Given the description of an element on the screen output the (x, y) to click on. 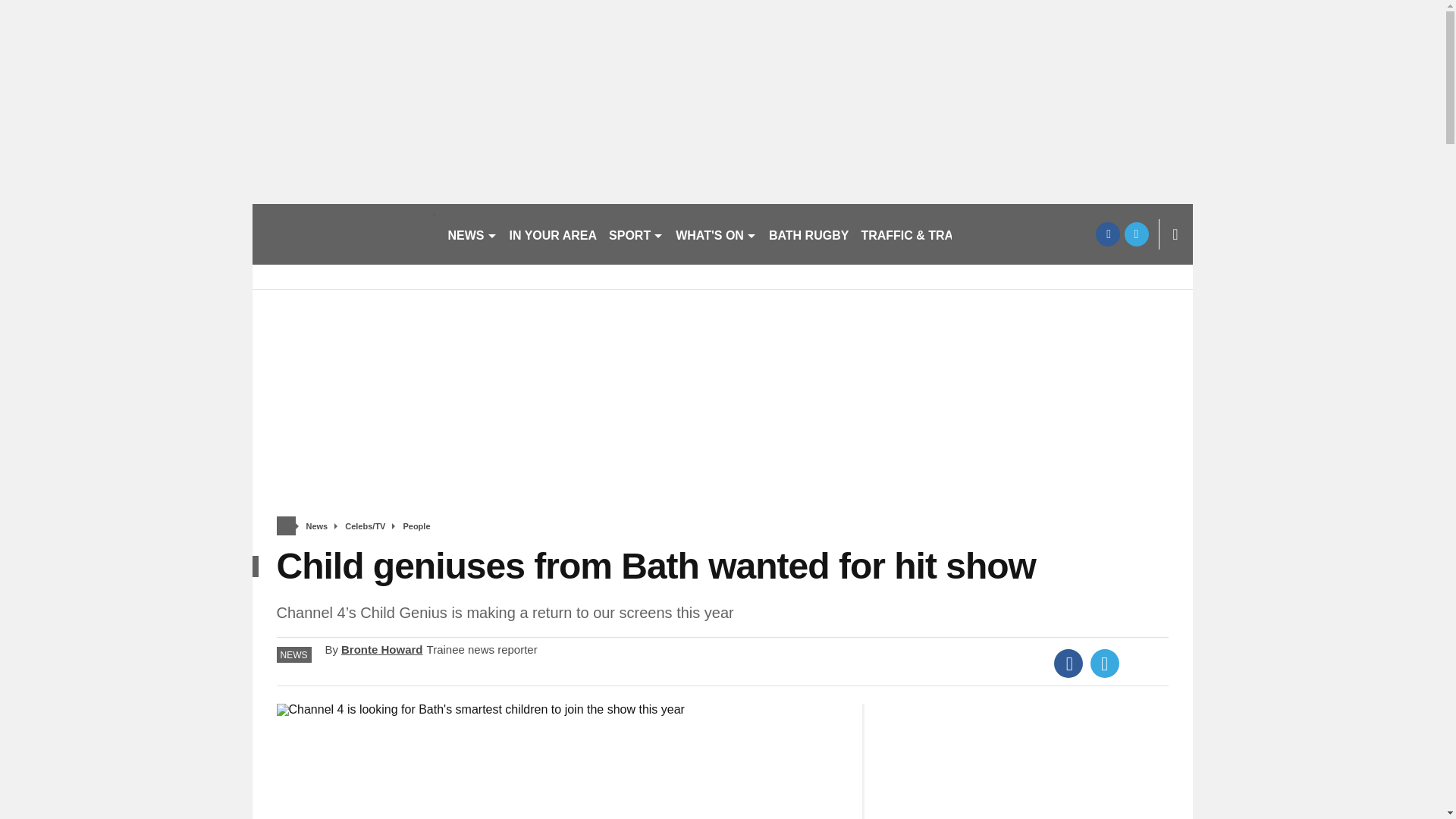
SPORT (635, 233)
Facebook (1068, 663)
IN YOUR AREA (553, 233)
BATH RUGBY (808, 233)
Twitter (1104, 663)
NEWS (471, 233)
twitter (1136, 233)
WHAT'S ON (715, 233)
facebook (1106, 233)
bathchronicle (342, 233)
